Given the description of an element on the screen output the (x, y) to click on. 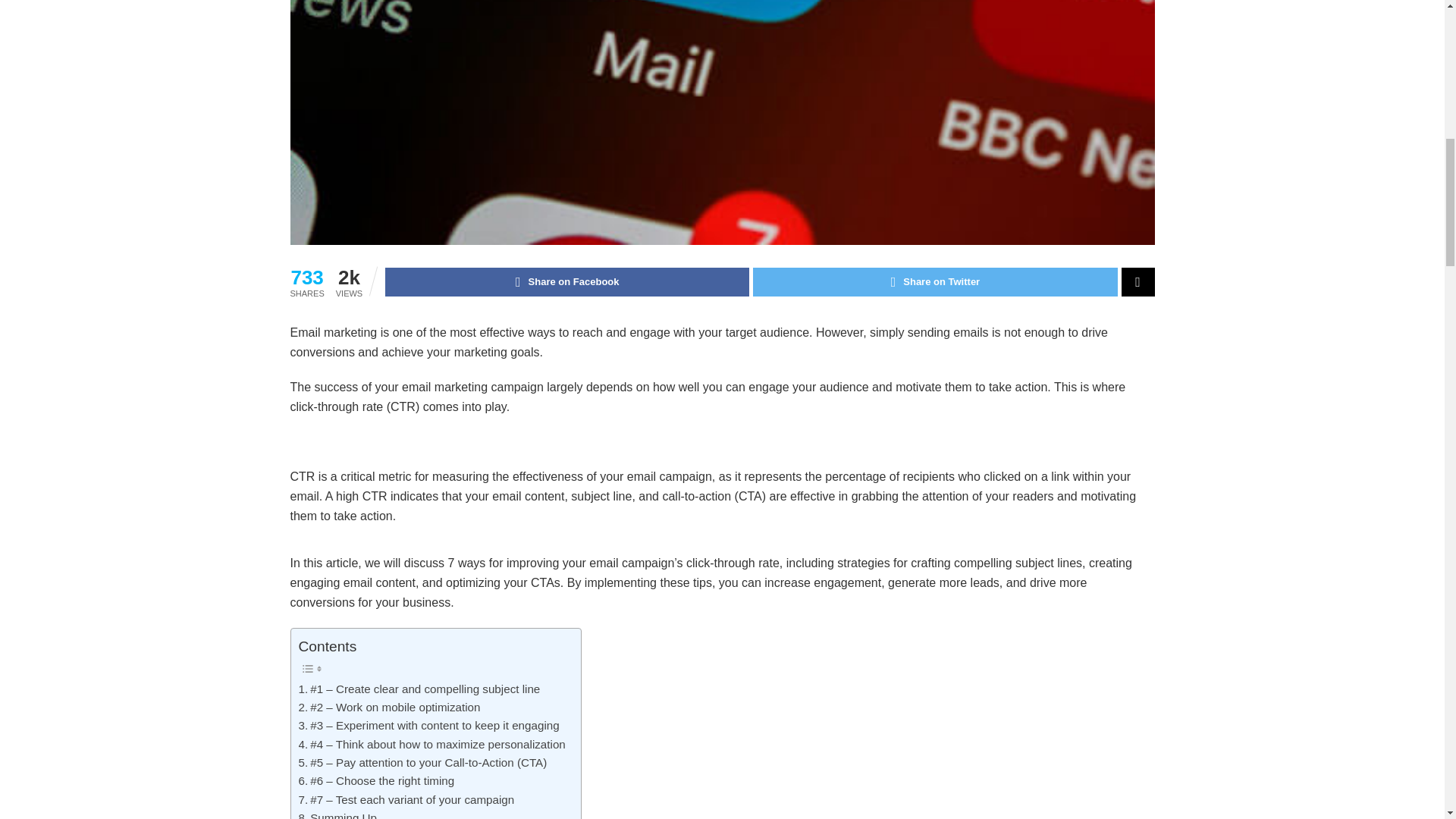
Share on Twitter (934, 281)
Summing Up (337, 814)
Summing Up (337, 814)
Share on Facebook (567, 281)
